Given the description of an element on the screen output the (x, y) to click on. 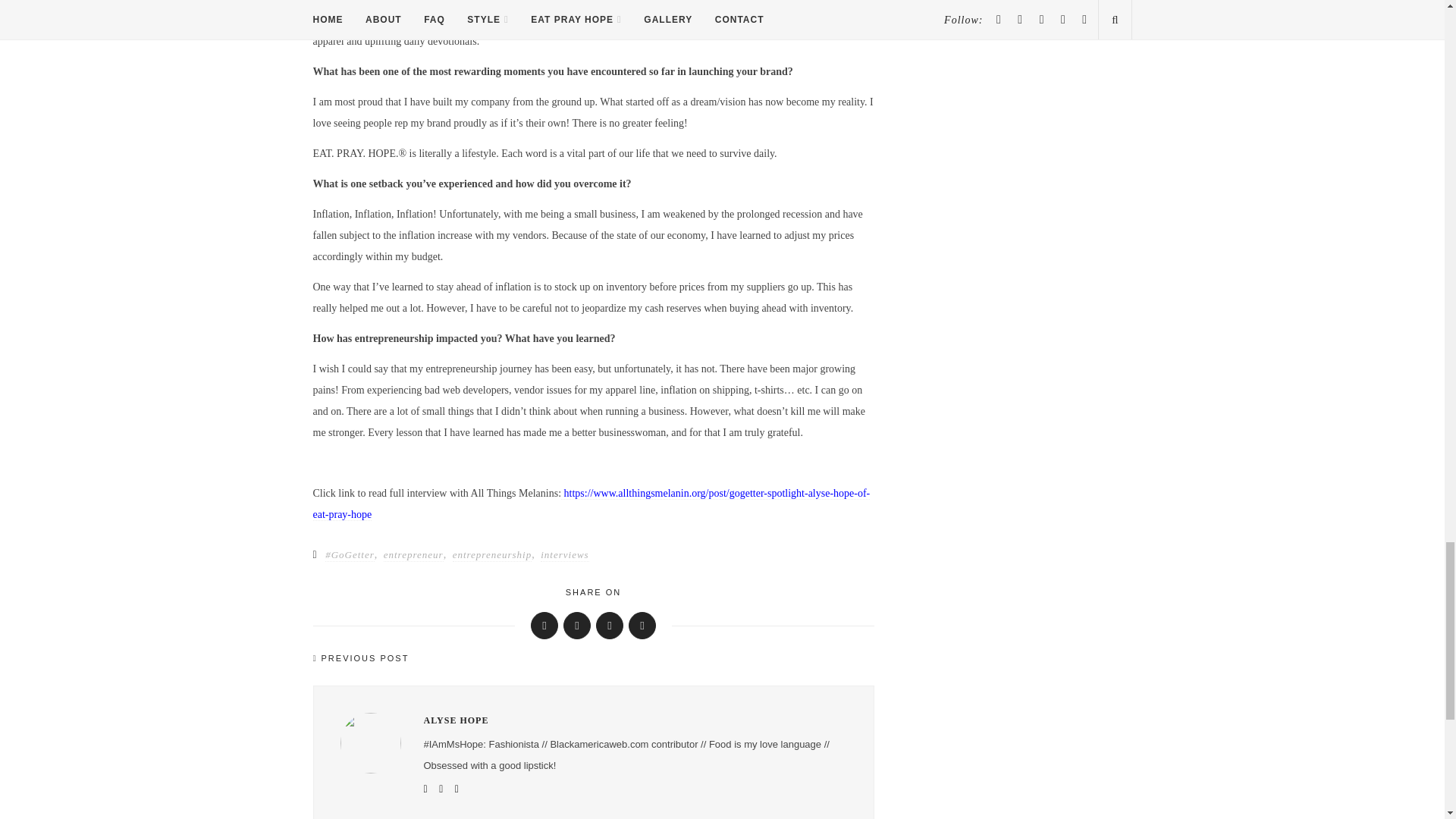
Posts by Alyse Hope (634, 720)
ALYSE HOPE (634, 720)
entrepreneur (414, 554)
entrepreneurship (492, 554)
PREVIOUS POST (452, 658)
interviews (564, 554)
